Given the description of an element on the screen output the (x, y) to click on. 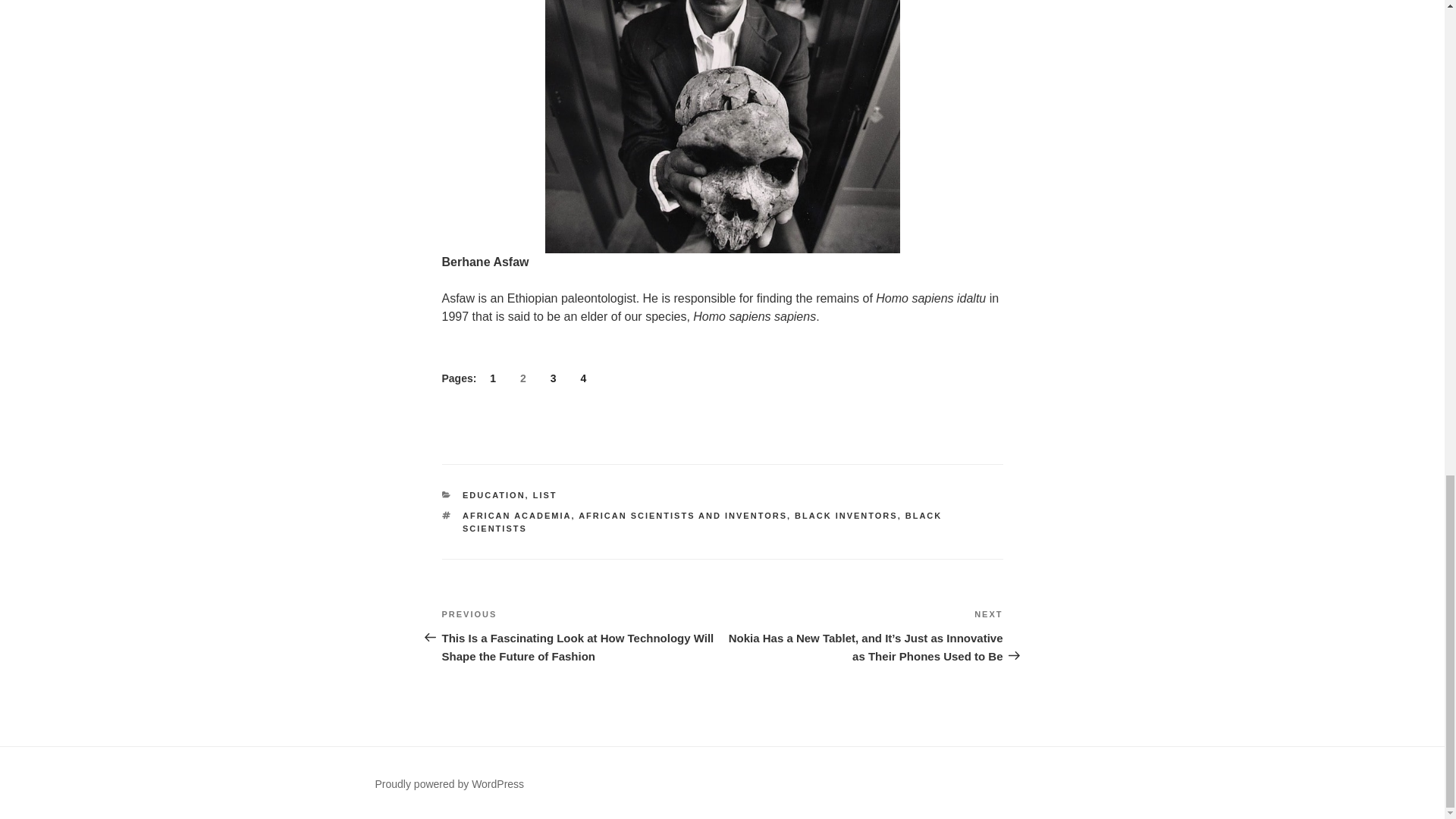
EDUCATION (494, 494)
3 (553, 378)
LIST (544, 494)
1 (492, 378)
Proudly powered by WordPress (449, 784)
AFRICAN ACADEMIA (516, 515)
BLACK SCIENTISTS (702, 522)
AFRICAN SCIENTISTS AND INVENTORS (682, 515)
4 (582, 378)
